Given the description of an element on the screen output the (x, y) to click on. 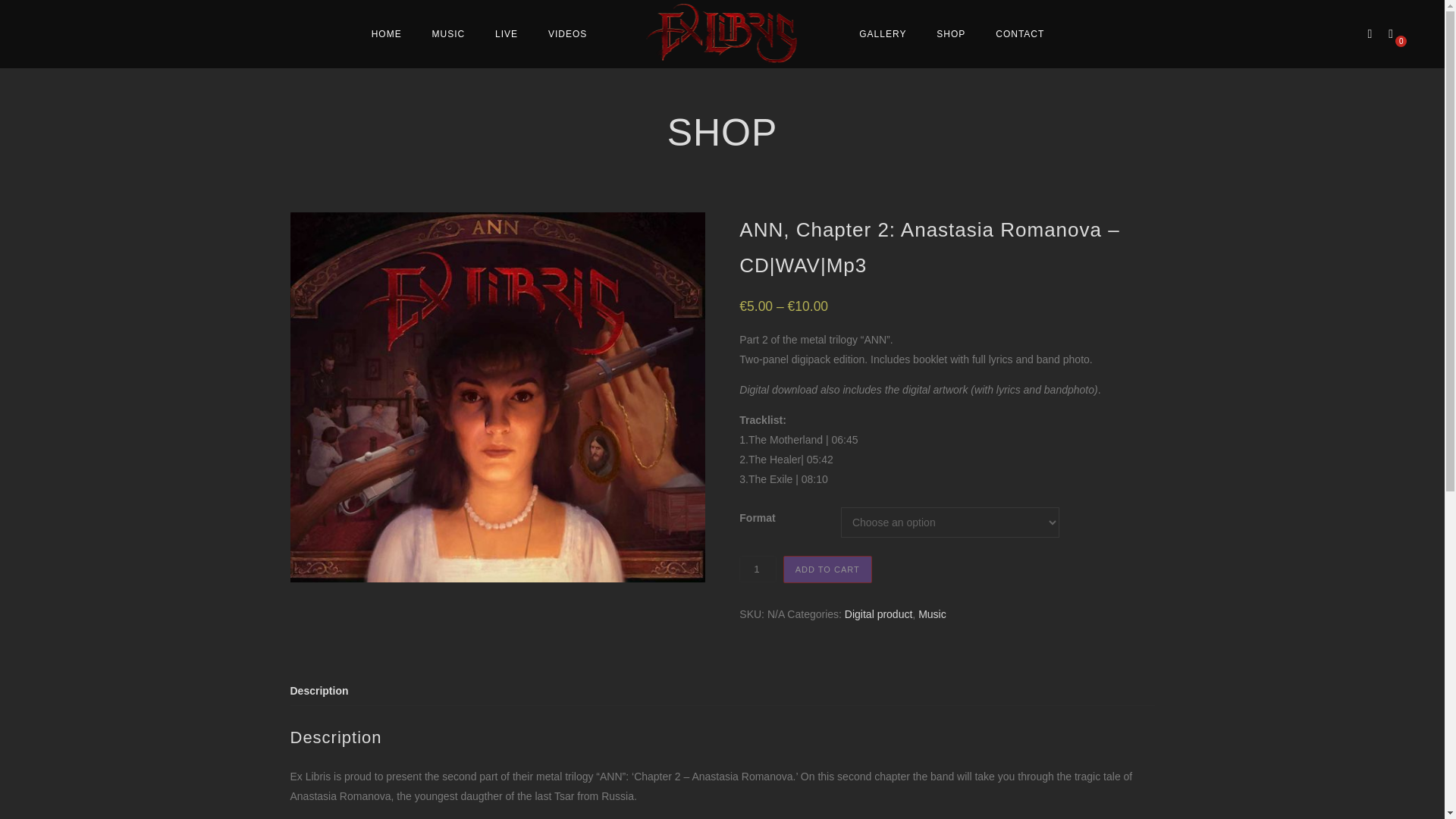
SHOP (950, 33)
Digital product (878, 613)
HOME (386, 33)
LIVE (506, 33)
GALLERY (882, 33)
1 (757, 569)
ADD TO CART (827, 569)
CONTACT (1019, 33)
MUSIC (449, 33)
